Given the description of an element on the screen output the (x, y) to click on. 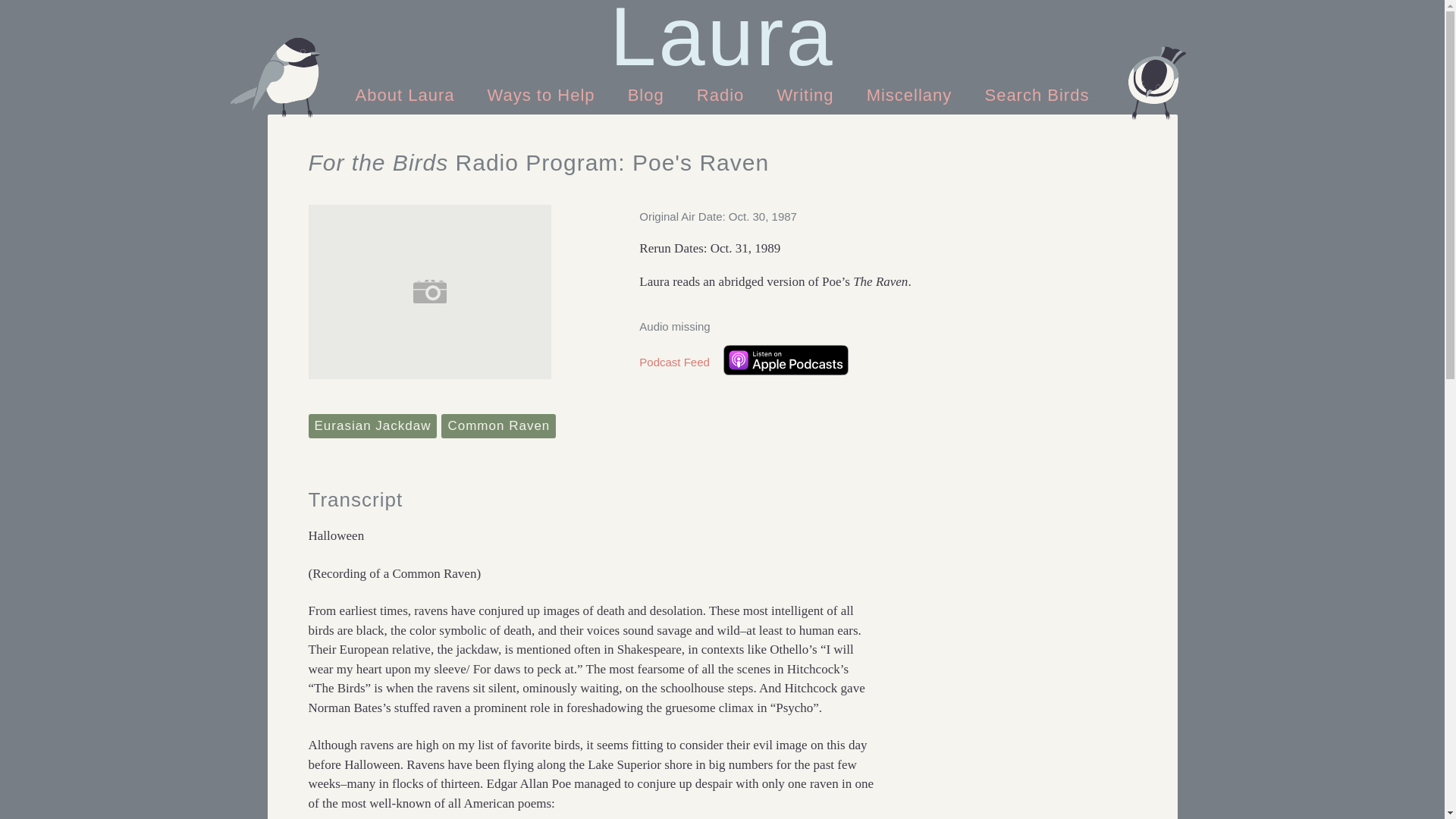
Eurasian Jackdaw (371, 426)
About Laura (408, 94)
Search Birds (1036, 94)
Miscellany (909, 94)
Radio (722, 94)
Blog (646, 94)
Writing (804, 94)
Ways to Help (544, 94)
Laura Erickson's For the Birds (721, 36)
Common Raven (498, 426)
Podcast Feed (674, 361)
